Given the description of an element on the screen output the (x, y) to click on. 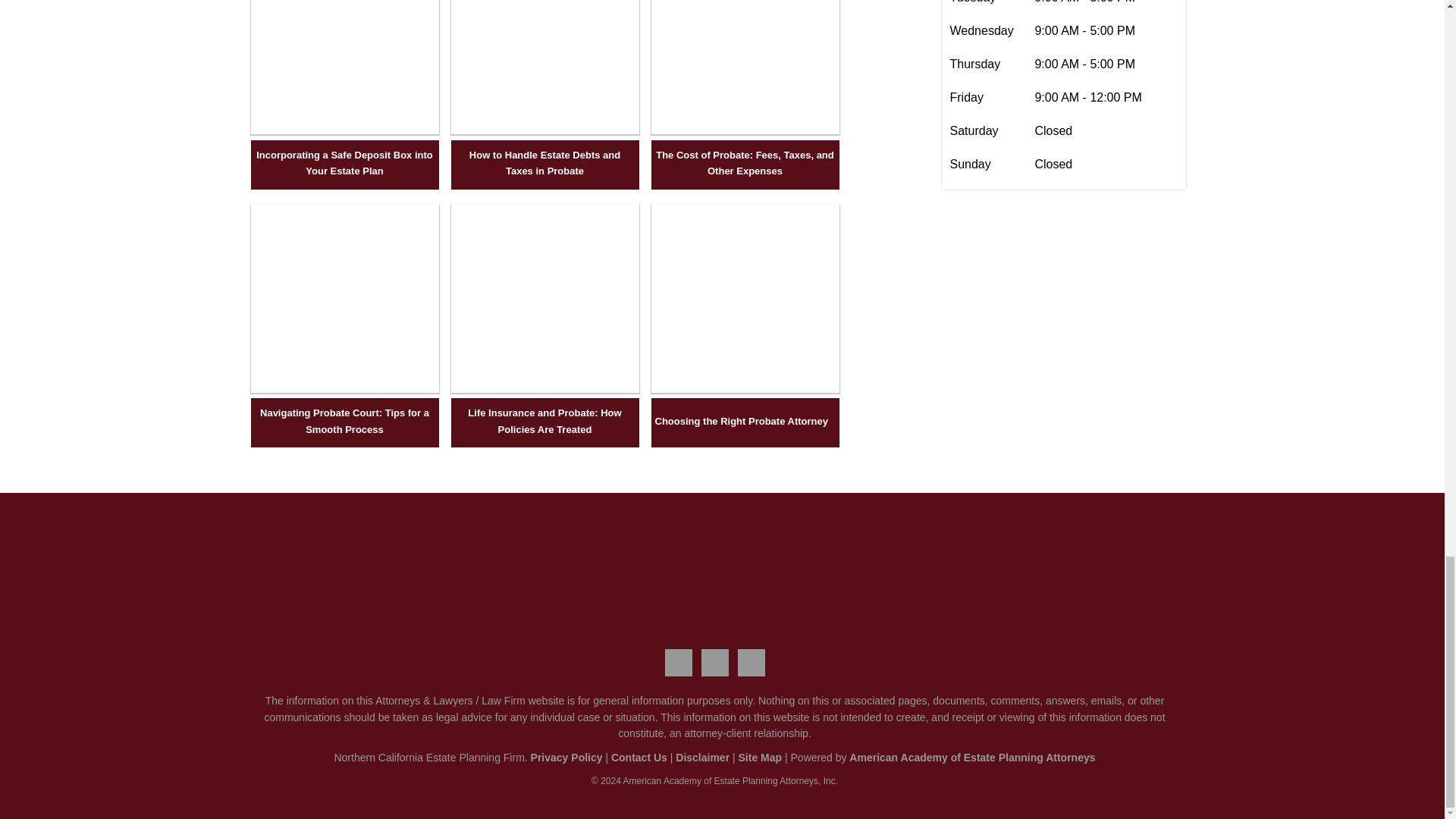
Navigating Probate Court: Tips for a Smooth Process (344, 420)
The Cost of Probate: Fees, Taxes, and Other Expenses (745, 163)
How to Handle Estate Debts and Taxes in Probate (544, 129)
Navigating Probate Court: Tips for a Smooth Process (344, 388)
How to Handle Estate Debts and Taxes in Probate (544, 163)
Incorporating a Safe Deposit Box into Your Estate Plan (344, 163)
Choosing the Right Probate Attorney (744, 388)
The Cost of Probate: Fees, Taxes, and Other Expenses (744, 129)
Incorporating a Safe Deposit Box into Your Estate Plan (344, 129)
Life Insurance and Probate: How Policies Are Treated (544, 388)
